Given the description of an element on the screen output the (x, y) to click on. 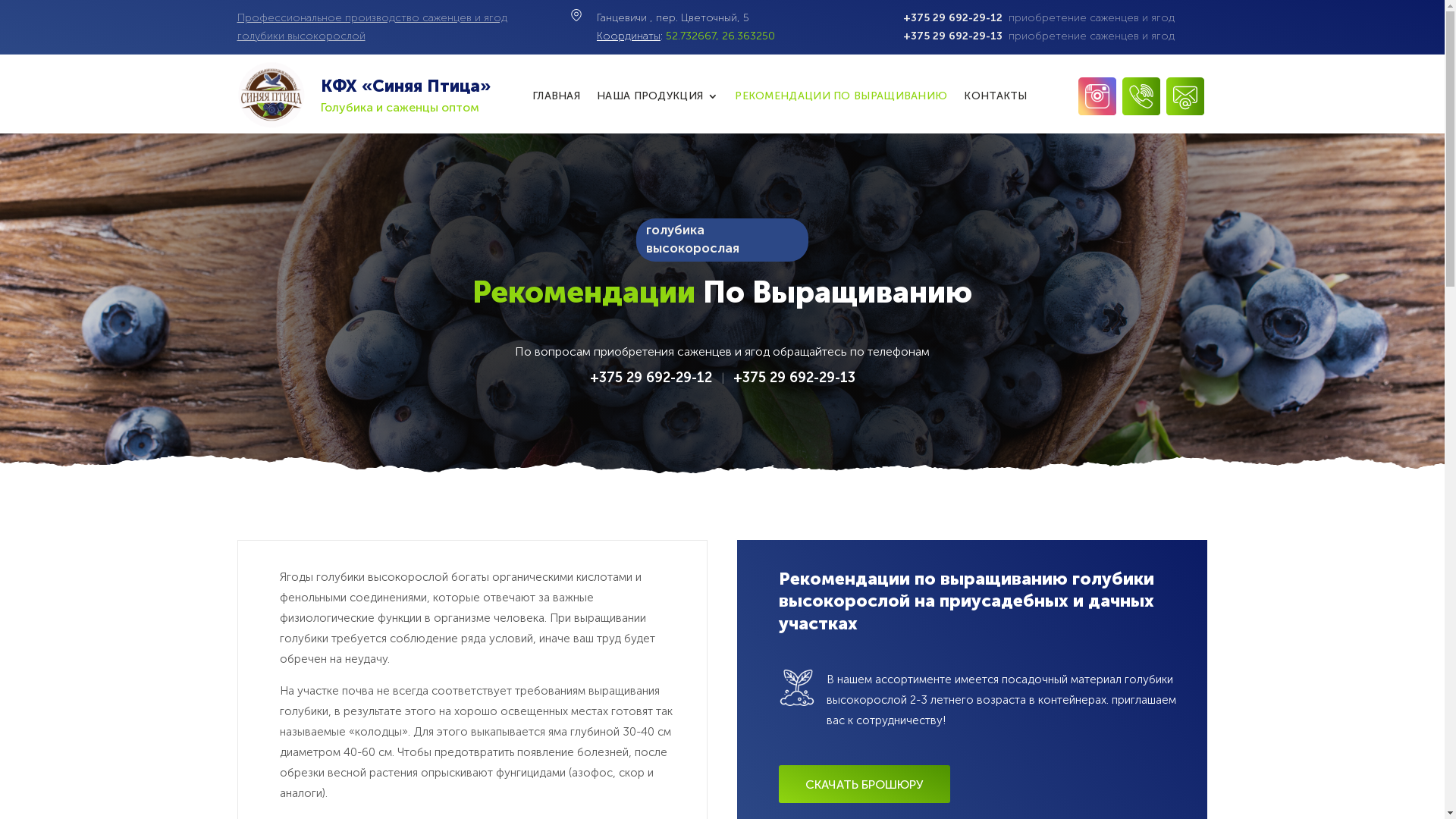
+375 29 692-29-13 Element type: text (793, 377)
+375 29 692-29-13 Element type: text (952, 35)
+375 29 692-29-12 Element type: text (952, 17)
+375 29 692-29-12 Element type: text (650, 377)
52.732667, 26.363250 Element type: text (720, 35)
